Given the description of an element on the screen output the (x, y) to click on. 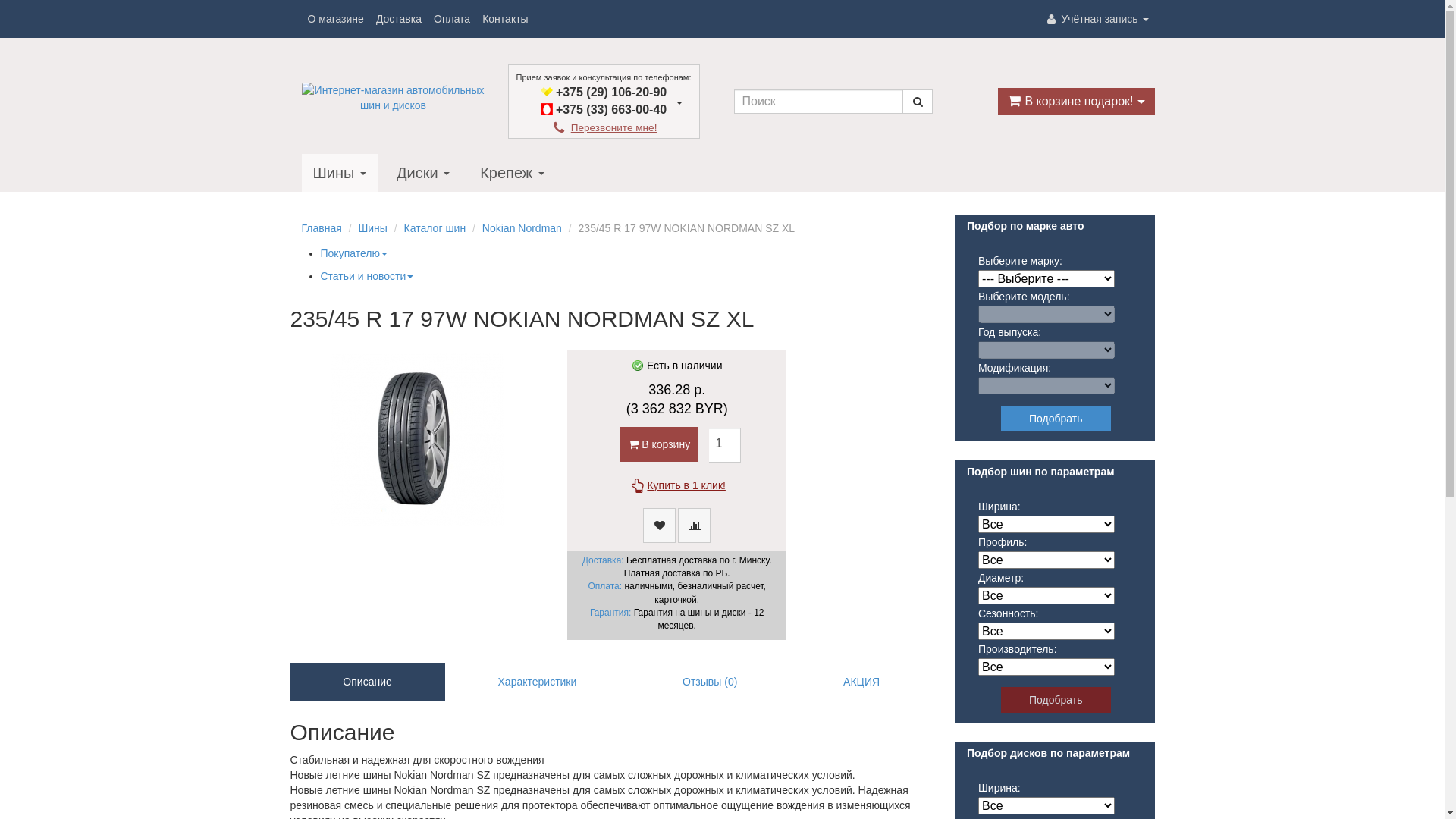
235/45 R 17 97W NOKIAN NORDMAN SZ XL Element type: hover (416, 439)
235/45 R 17 97W NOKIAN NORDMAN SZ XL Element type: hover (416, 439)
Nokian Nordman Element type: text (521, 228)
